Given the description of an element on the screen output the (x, y) to click on. 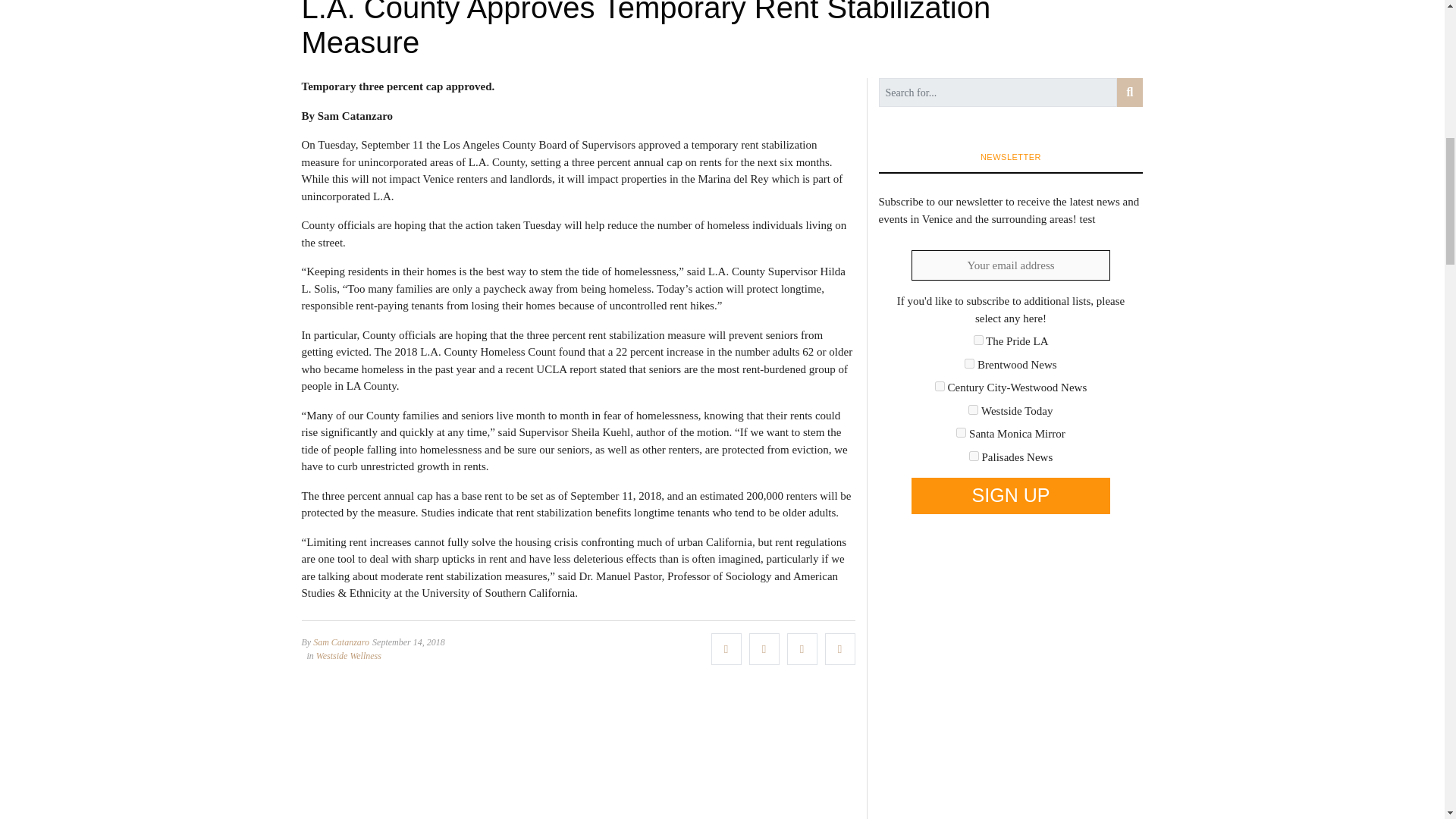
382281a661 (968, 363)
Sign up (1010, 495)
Westside Wellness (348, 655)
Sam Catanzaro (341, 642)
33f79e7e4d (979, 339)
Posts by Sam Catanzaro (341, 642)
5fac618226 (939, 386)
a3d1b6d535 (973, 409)
d0b5733862 (961, 432)
ec7d882848 (973, 456)
